Given the description of an element on the screen output the (x, y) to click on. 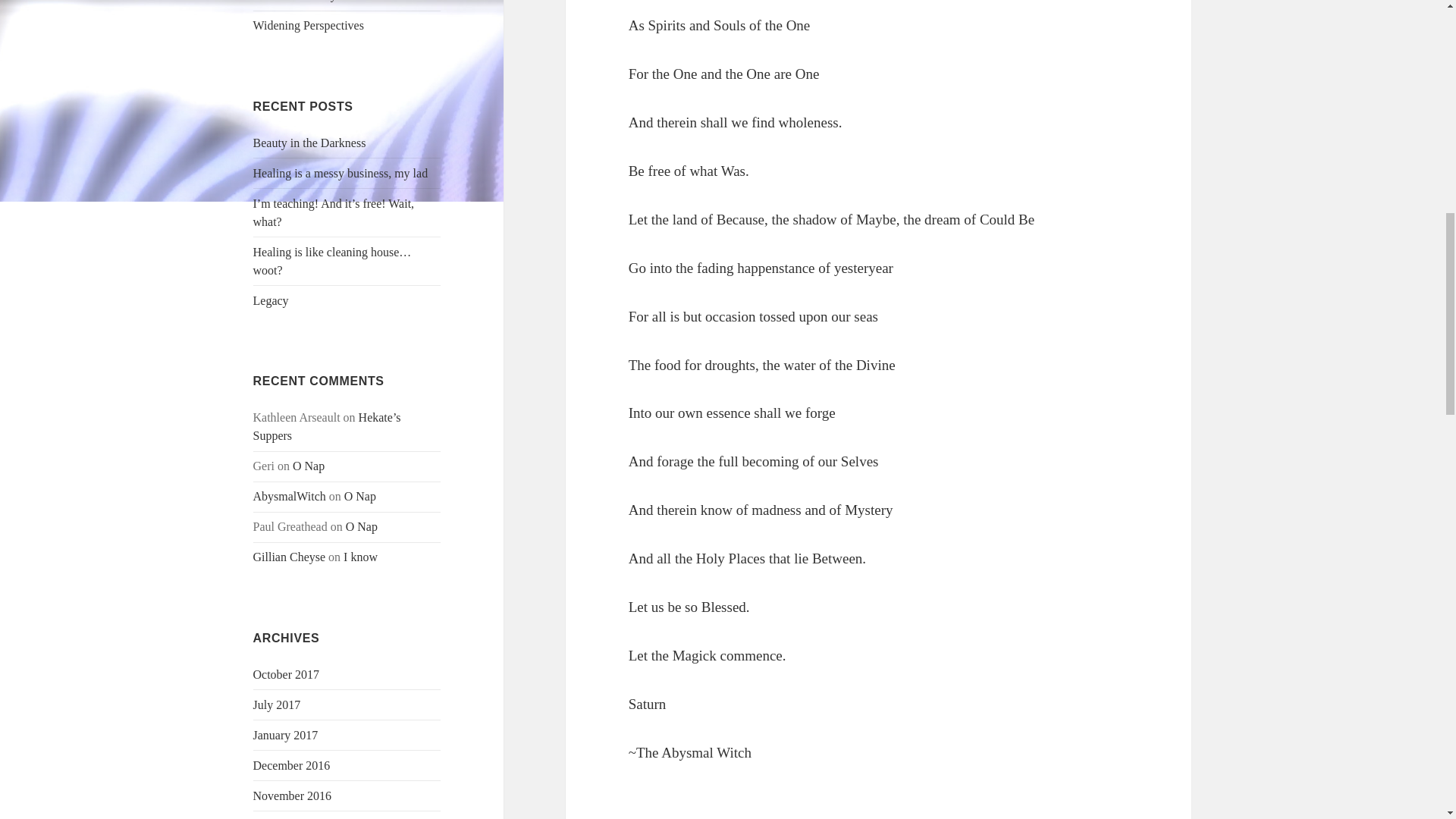
January 2017 (285, 735)
AbysmalWitch (289, 495)
November 2016 (292, 795)
Healing is a messy business, my lad (340, 173)
July 2017 (277, 704)
Widening Perspectives (308, 24)
I know (360, 556)
October 2017 (286, 674)
December 2016 (291, 765)
Gillian Cheyse (289, 556)
O Nap (361, 526)
Those Other Days (296, 0)
Beauty in the Darkness (309, 142)
O Nap (359, 495)
O Nap (308, 465)
